Given the description of an element on the screen output the (x, y) to click on. 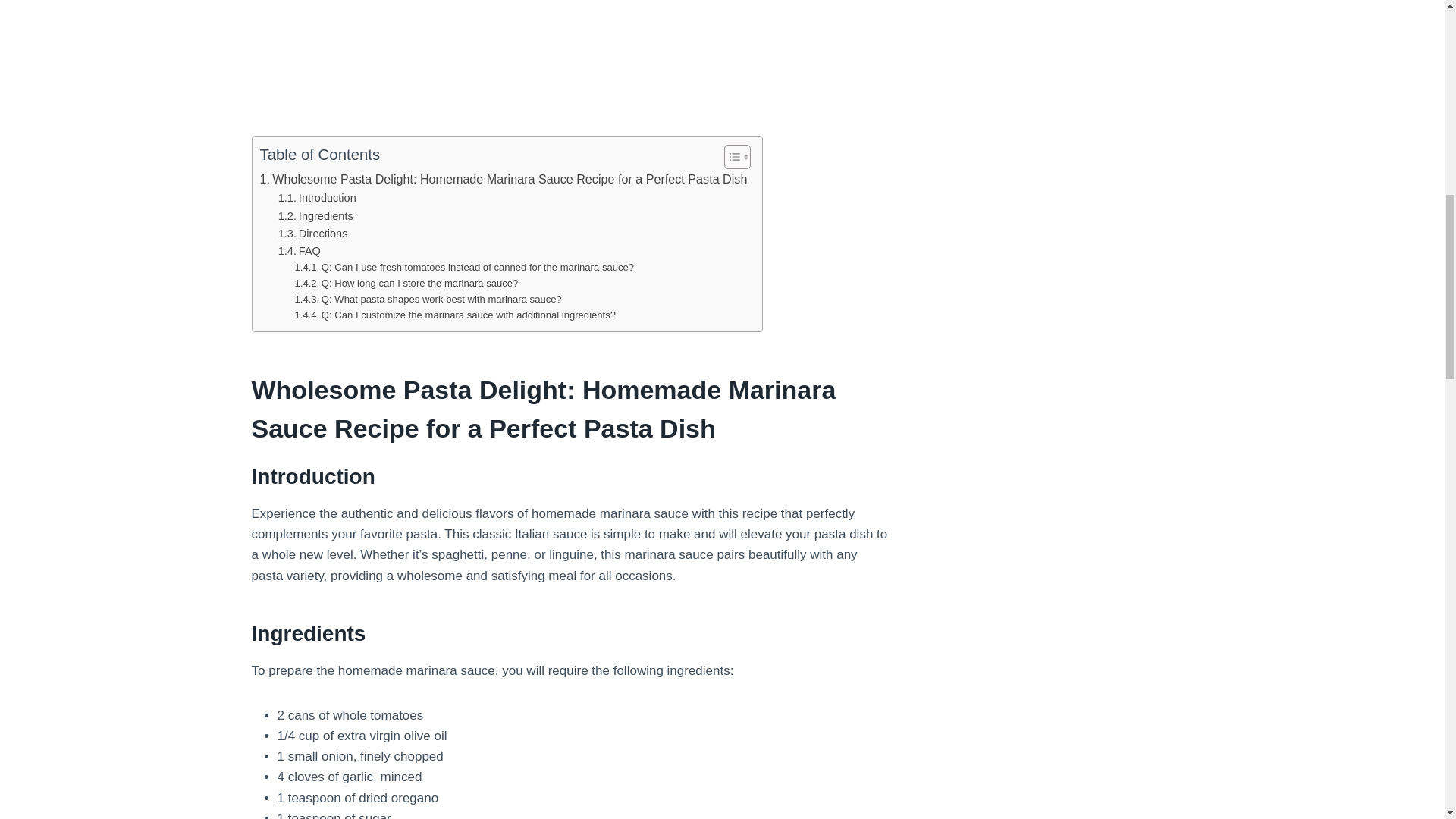
Q: What pasta shapes work best with marinara sauce? (428, 299)
Introduction (317, 198)
Q: How long can I store the marinara sauce? (406, 283)
Directions (312, 233)
Directions (312, 233)
Introduction (317, 198)
Q: How long can I store the marinara sauce? (406, 283)
Ingredients (315, 216)
Ingredients (315, 216)
